Given the description of an element on the screen output the (x, y) to click on. 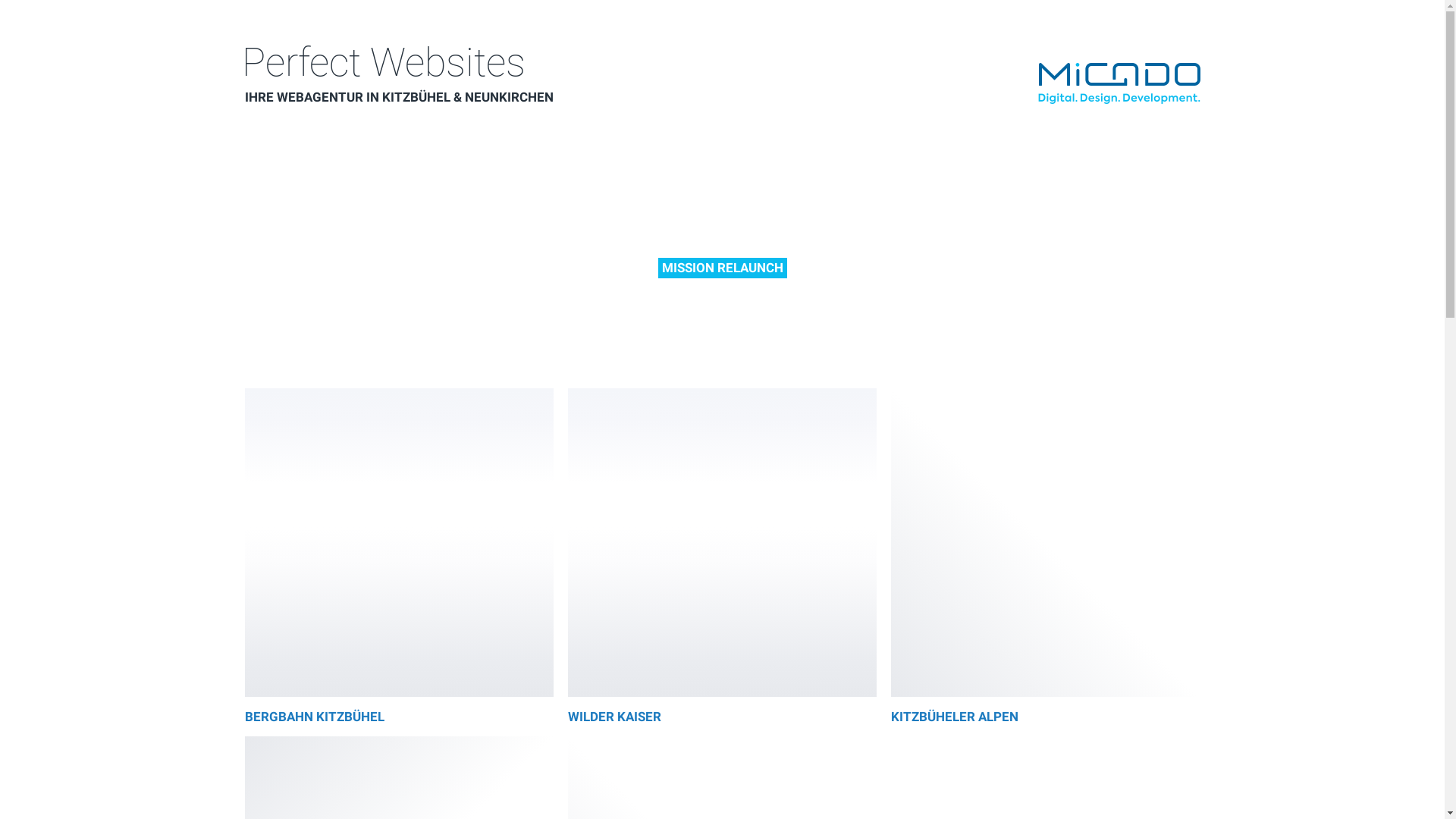
office@micado.cc Element type: text (999, 627)
WILDER KAISER Element type: text (721, 716)
+43 5356 / 65 278 Element type: text (675, 627)
